Given the description of an element on the screen output the (x, y) to click on. 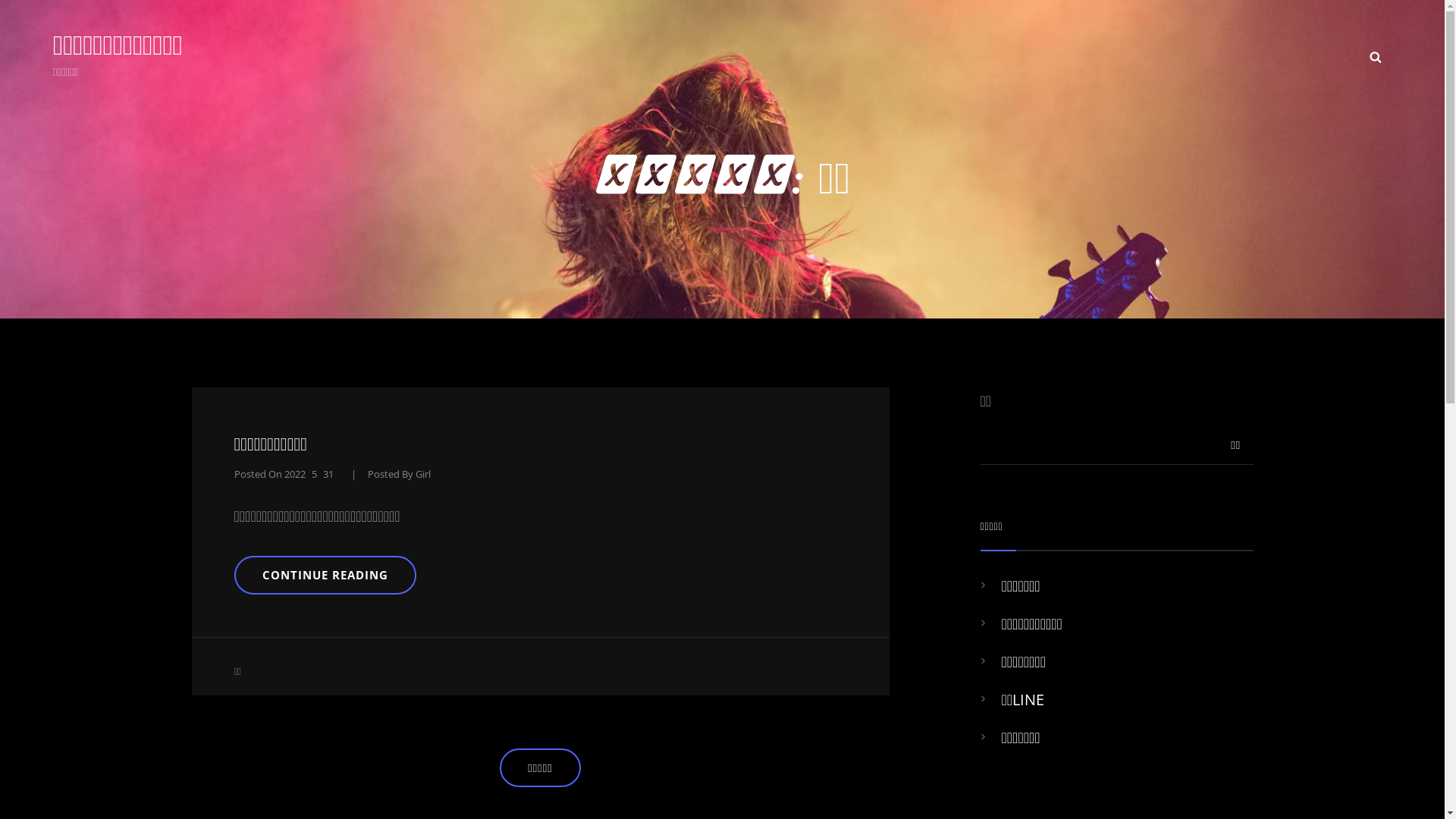
SEARCH Element type: text (1375, 56)
Girl Element type: text (422, 473)
